Given the description of an element on the screen output the (x, y) to click on. 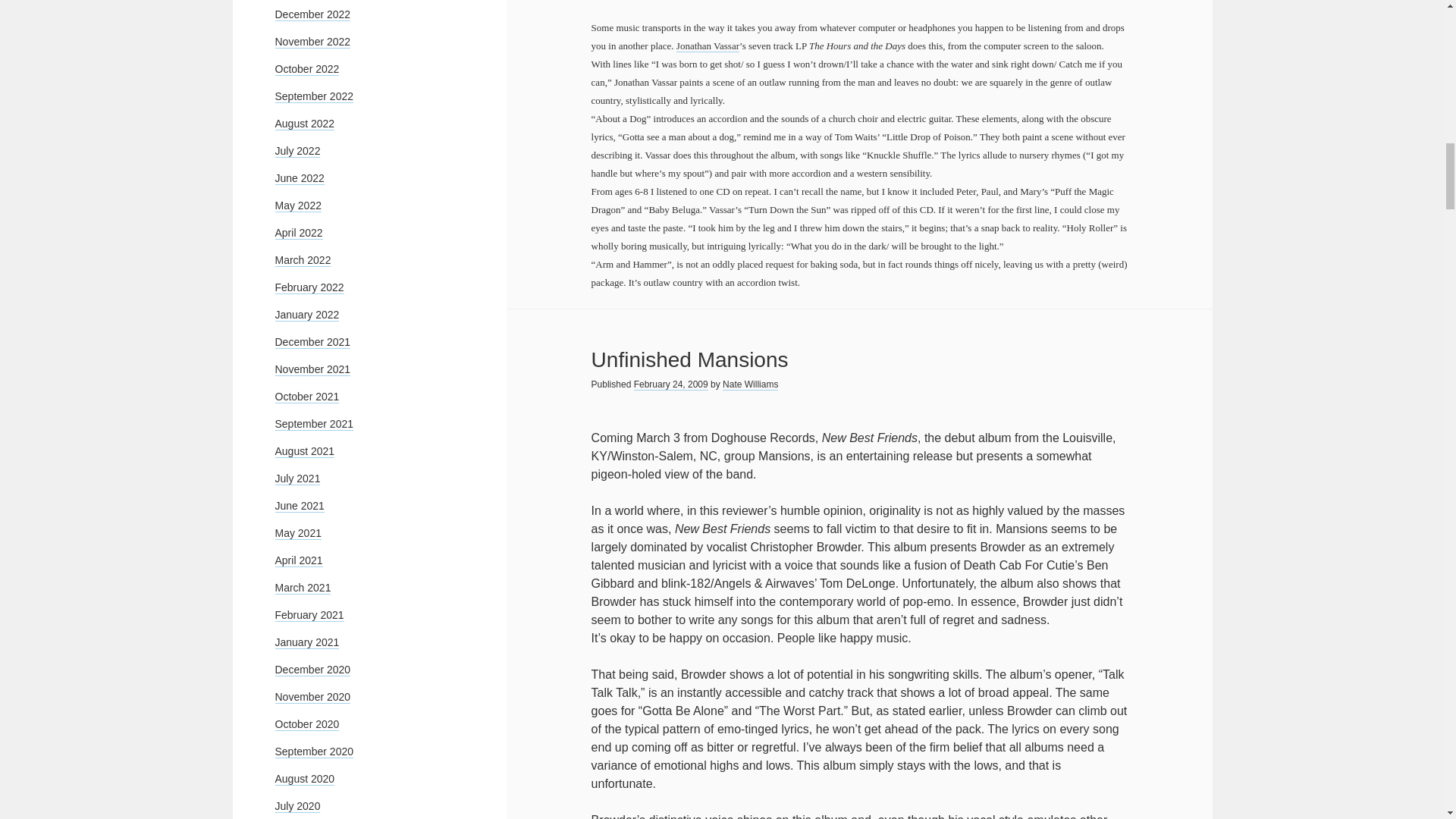
June 2022 (299, 178)
November 2022 (312, 42)
April 2022 (298, 232)
December 2021 (312, 341)
December 2022 (312, 14)
February 2022 (309, 287)
October 2022 (307, 69)
August 2022 (304, 123)
May 2022 (297, 205)
January 2022 (307, 314)
October 2021 (307, 396)
November 2021 (312, 369)
September 2022 (314, 96)
July 2022 (297, 151)
March 2022 (302, 259)
